Given the description of an element on the screen output the (x, y) to click on. 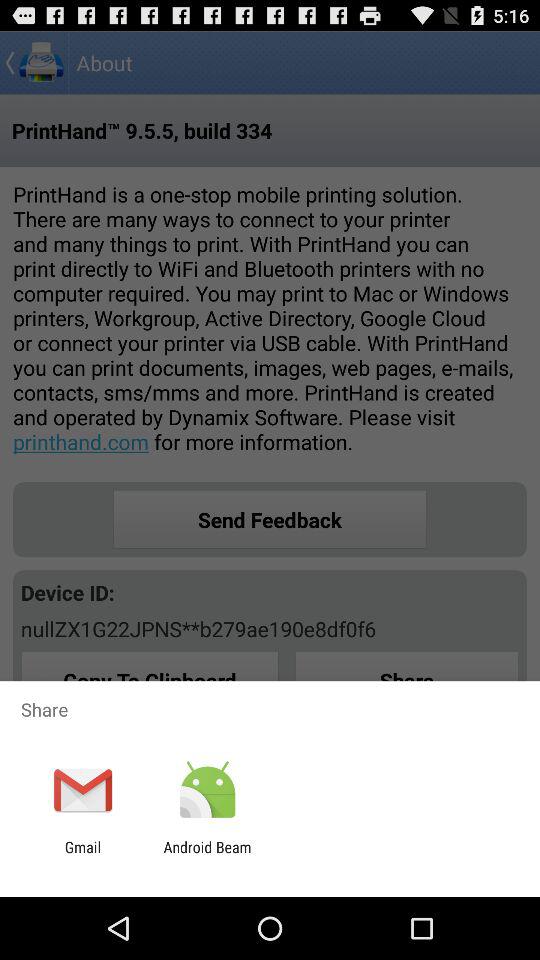
choose the app next to android beam app (82, 856)
